Given the description of an element on the screen output the (x, y) to click on. 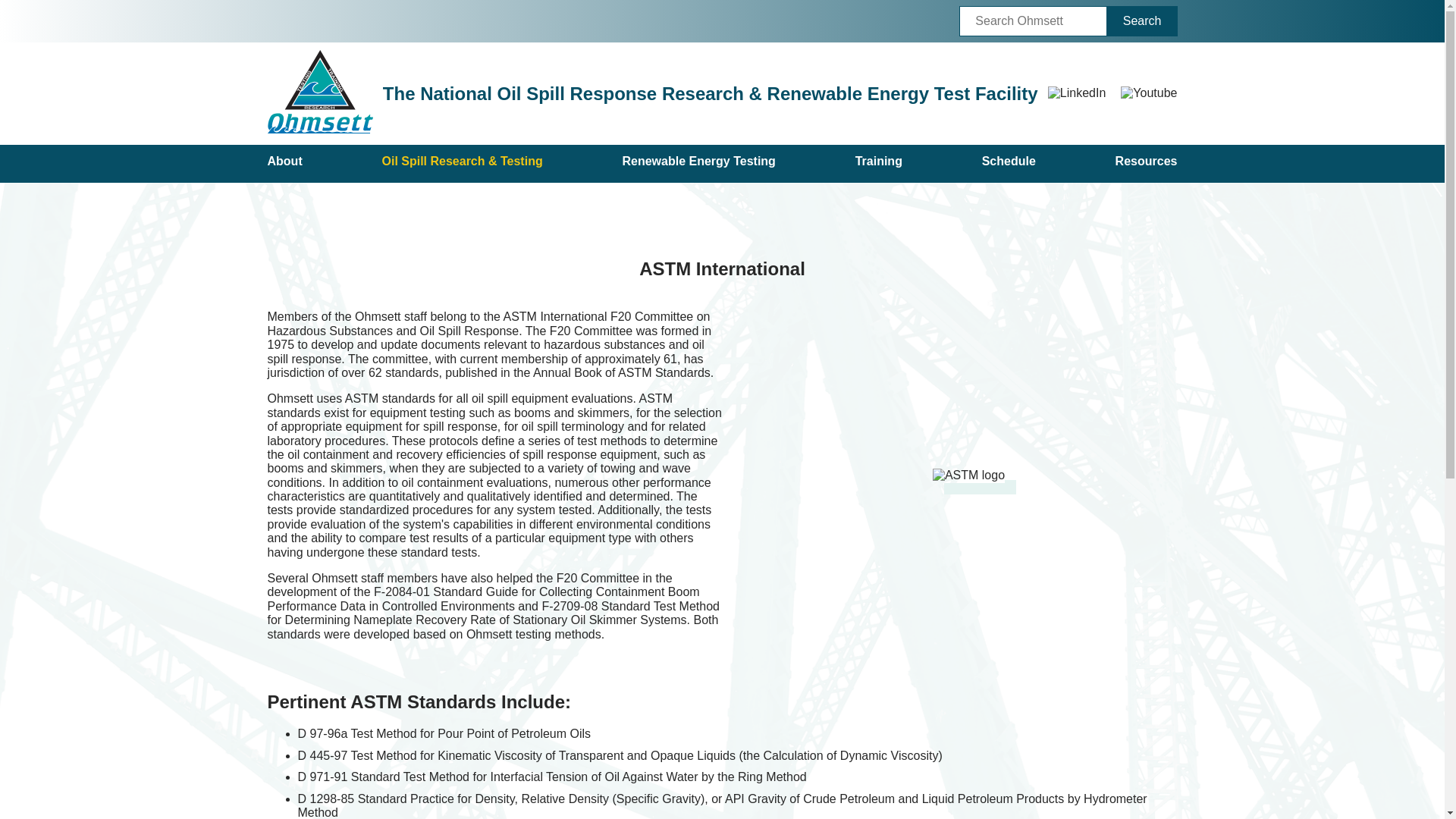
Renewable Energy Testing (698, 163)
Training (878, 163)
Schedule (1008, 163)
LinkedIn (1077, 92)
More information about Ohmsett (284, 163)
Includes the Ohmsett Gazette, Brochures, and more! (1146, 163)
Enter the terms you wish to search for. (1032, 20)
Testing and Training Schedule (1008, 163)
The Ohmsett training page (878, 163)
